Given the description of an element on the screen output the (x, y) to click on. 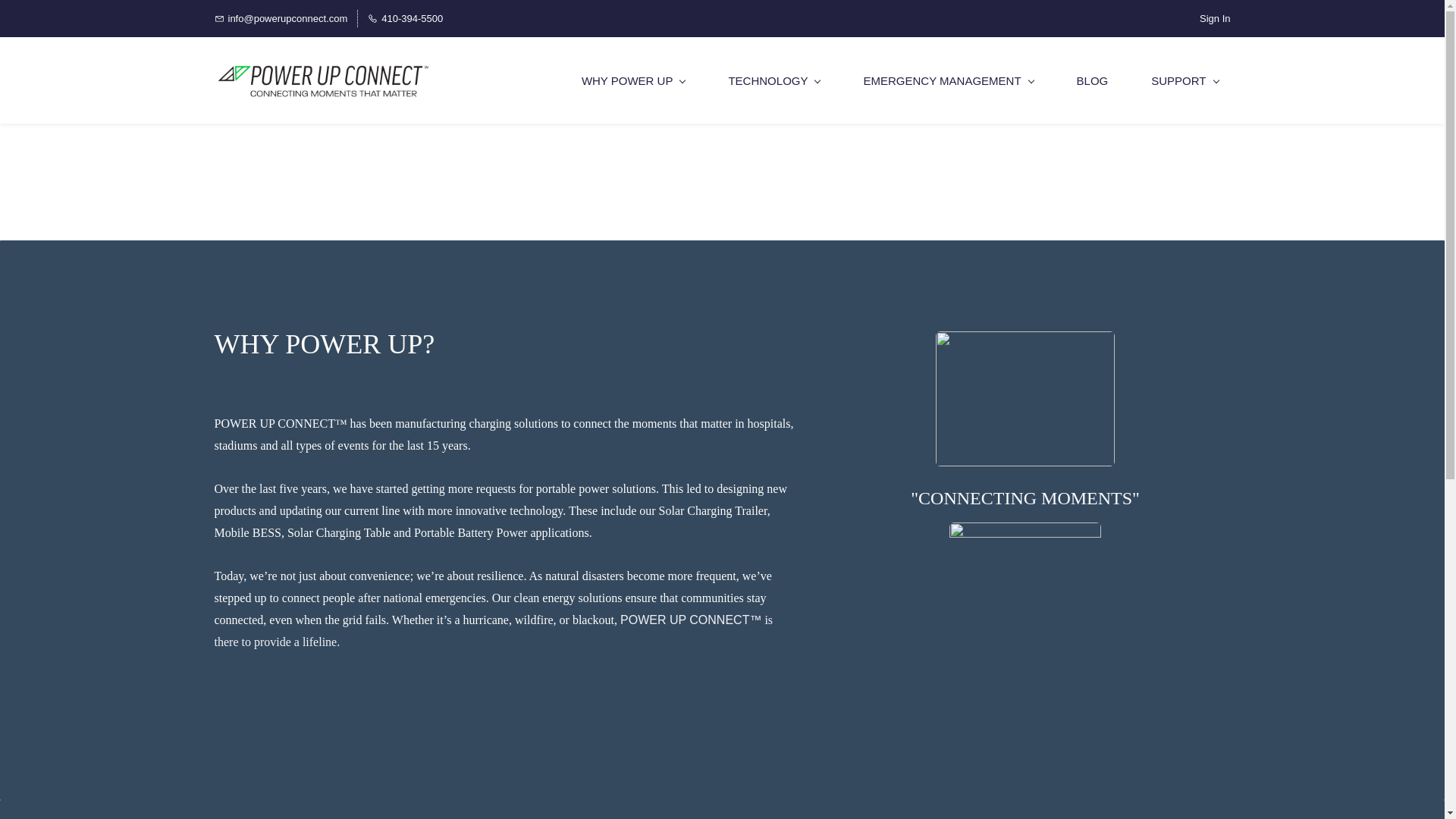
Sign In (1214, 18)
SUPPORT (1184, 80)
EMERGENCY MANAGEMENT (947, 80)
Sign In (1214, 18)
410-394-5500 (405, 18)
TECHNOLOGY (773, 80)
Phone Number (405, 18)
EMERGENCY MANAGEMENT (947, 80)
Logo (322, 80)
WHY POWER UP (633, 80)
